Given the description of an element on the screen output the (x, y) to click on. 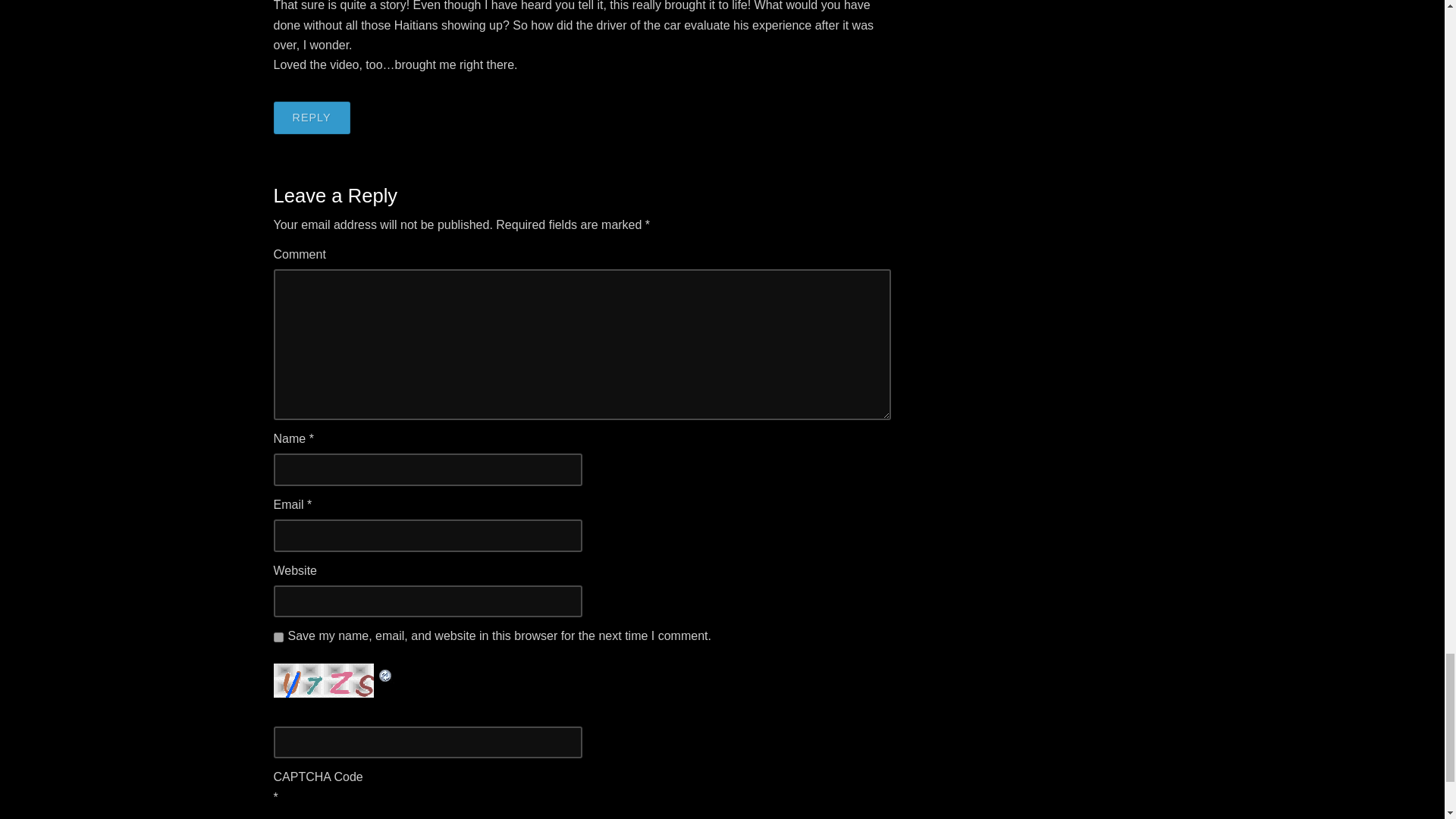
yes (277, 637)
Refresh (385, 672)
CAPTCHA (325, 680)
